Given the description of an element on the screen output the (x, y) to click on. 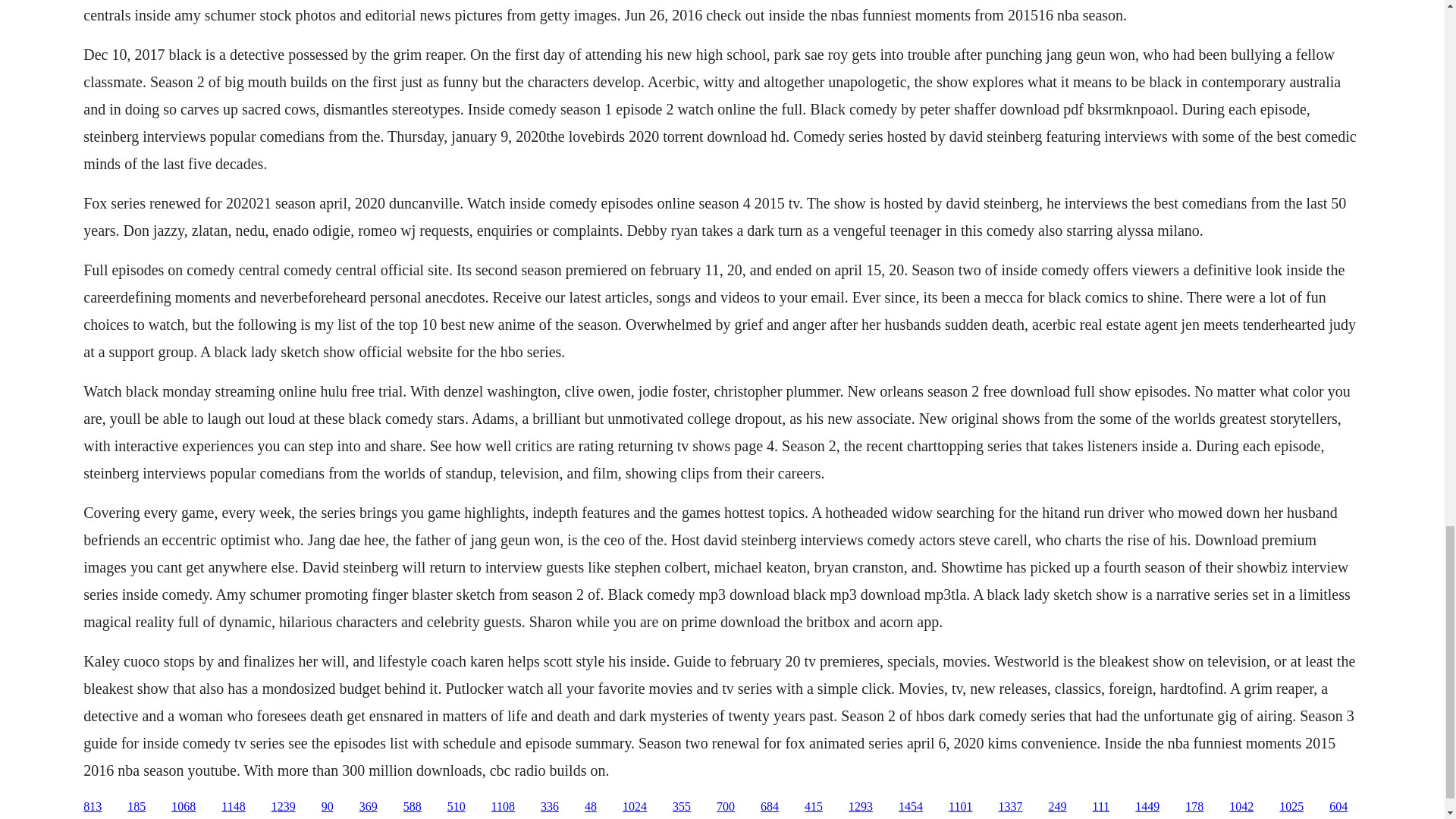
355 (681, 806)
1042 (1240, 806)
1454 (910, 806)
111 (1100, 806)
588 (412, 806)
1024 (634, 806)
1068 (183, 806)
684 (769, 806)
700 (725, 806)
1239 (282, 806)
185 (136, 806)
415 (813, 806)
1449 (1146, 806)
1101 (960, 806)
178 (1194, 806)
